Given the description of an element on the screen output the (x, y) to click on. 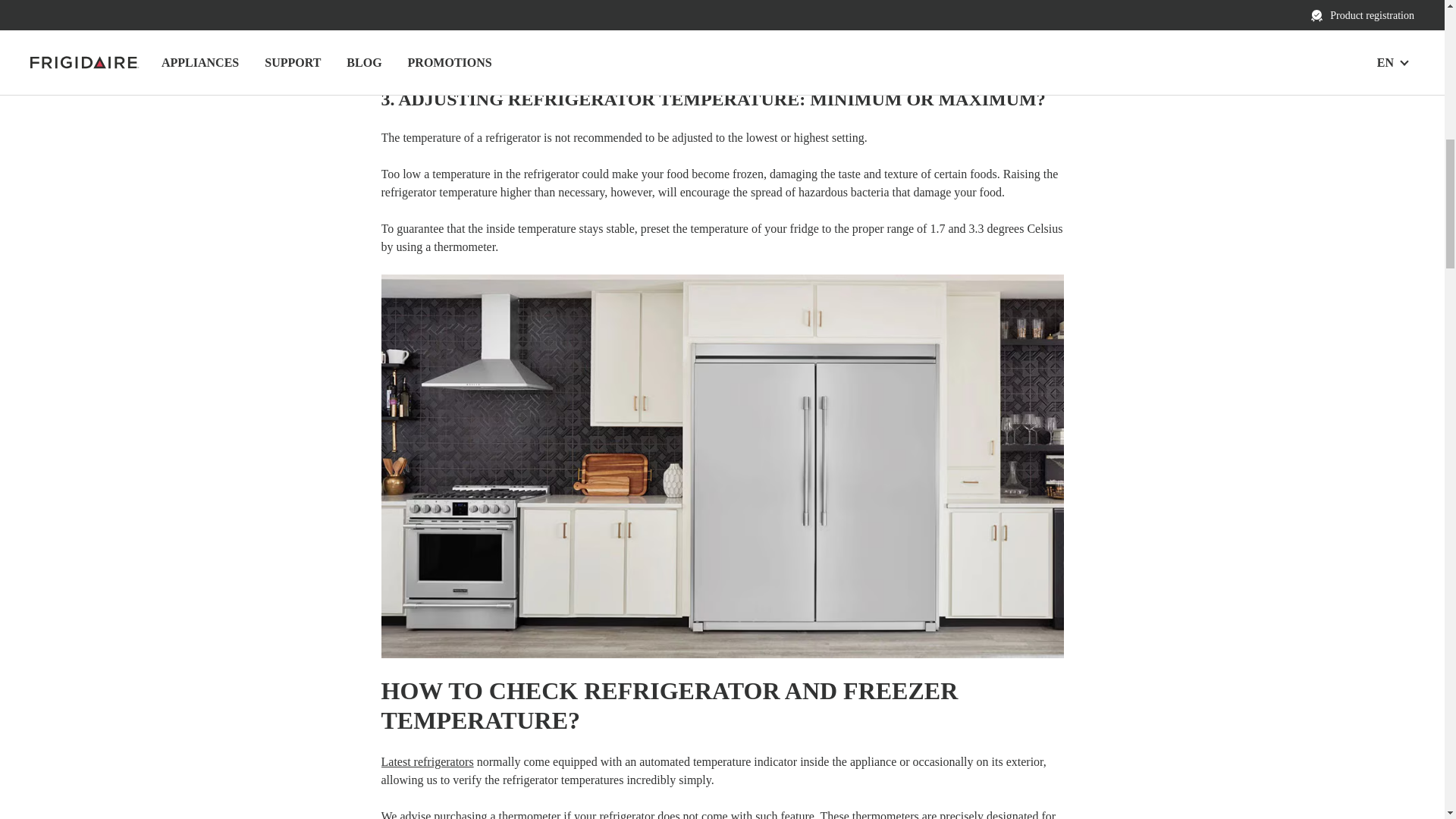
Latest refrigerators (426, 761)
